Given the description of an element on the screen output the (x, y) to click on. 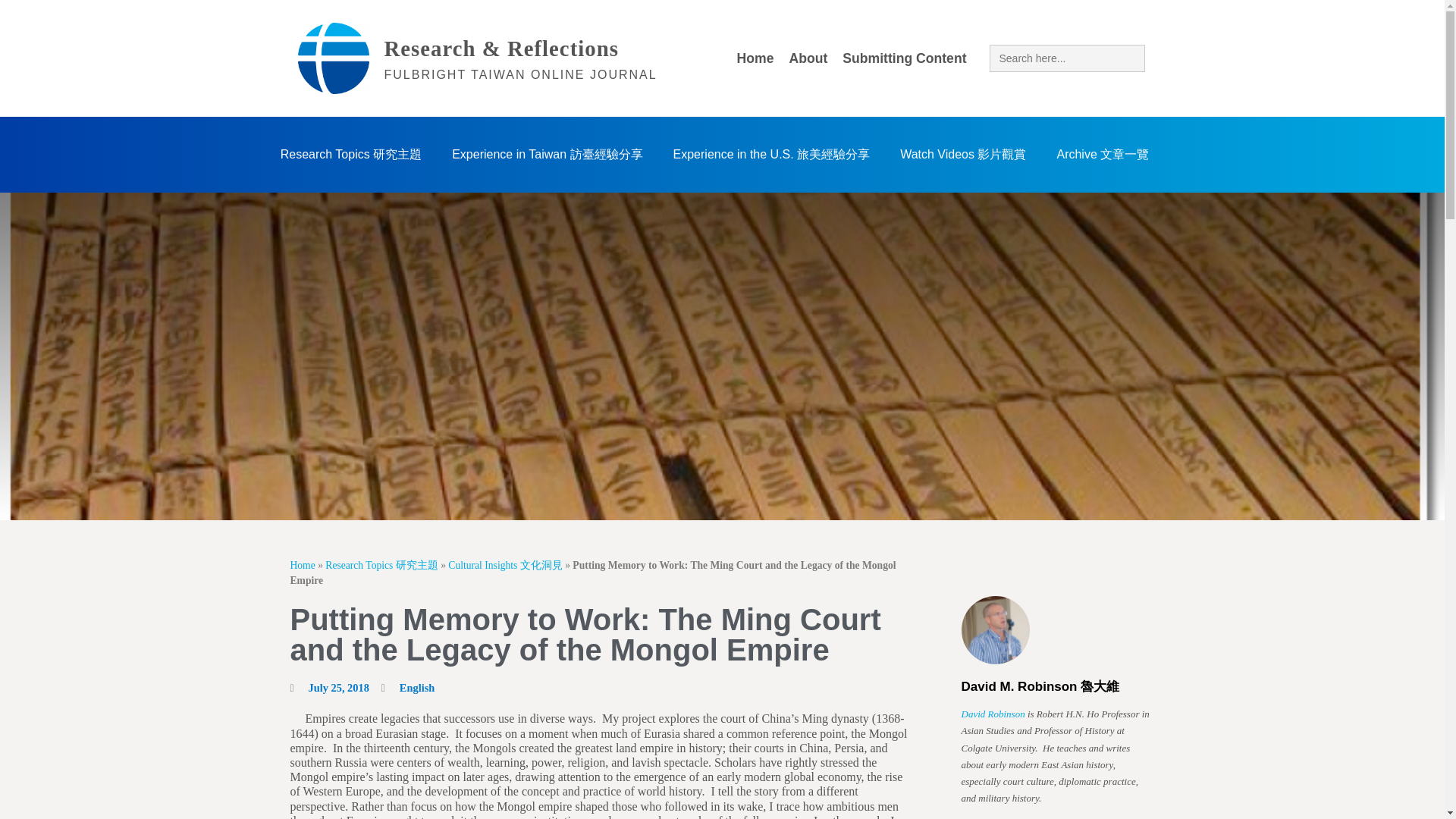
About (807, 58)
Home (755, 58)
Submitting Content (904, 58)
